Given the description of an element on the screen output the (x, y) to click on. 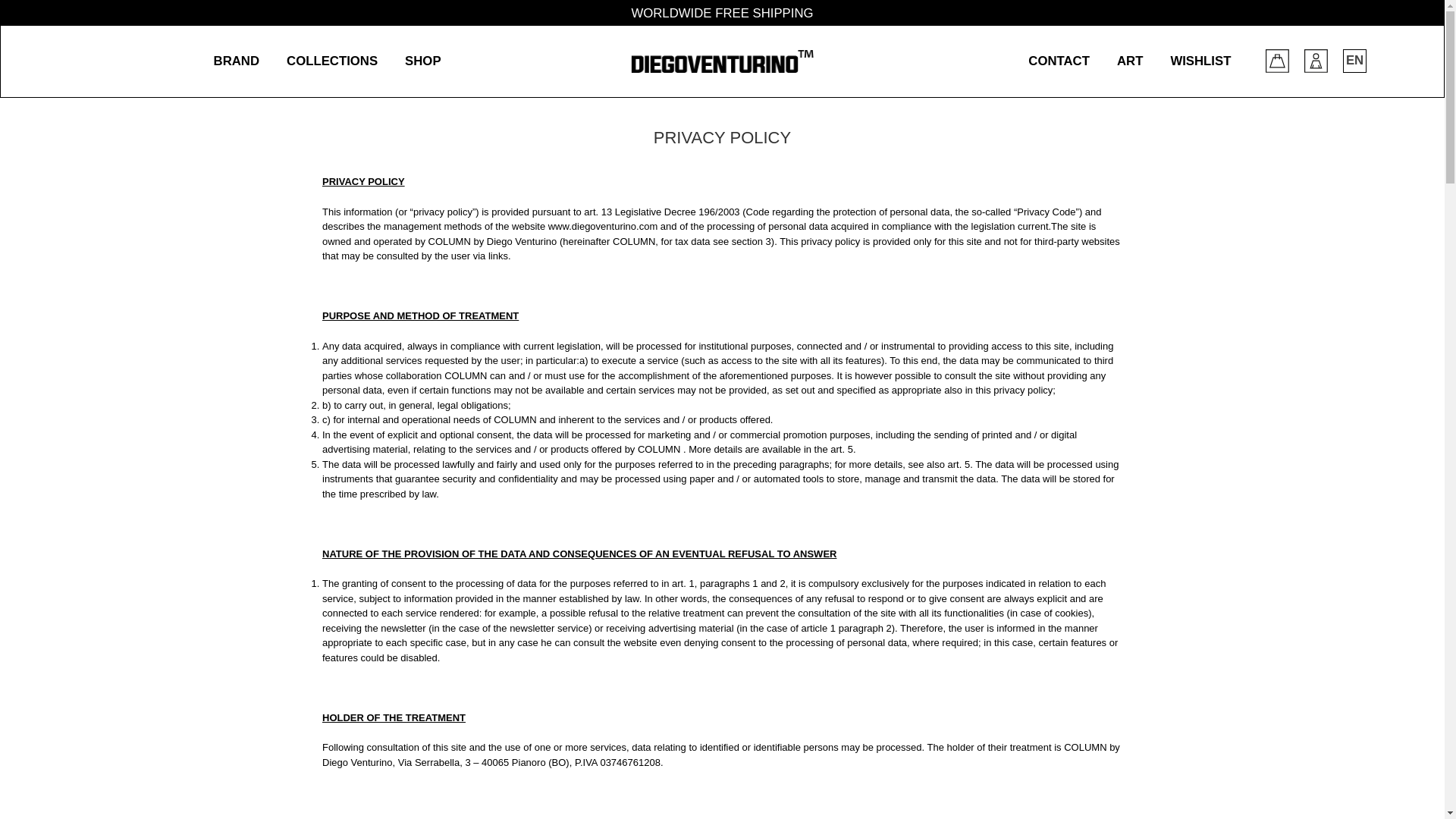
BRAND (236, 61)
EN (1354, 60)
ART (1129, 61)
SHOP (422, 61)
WISHLIST (1200, 61)
COLLECTIONS (331, 61)
CONTACT (1058, 61)
